Given the description of an element on the screen output the (x, y) to click on. 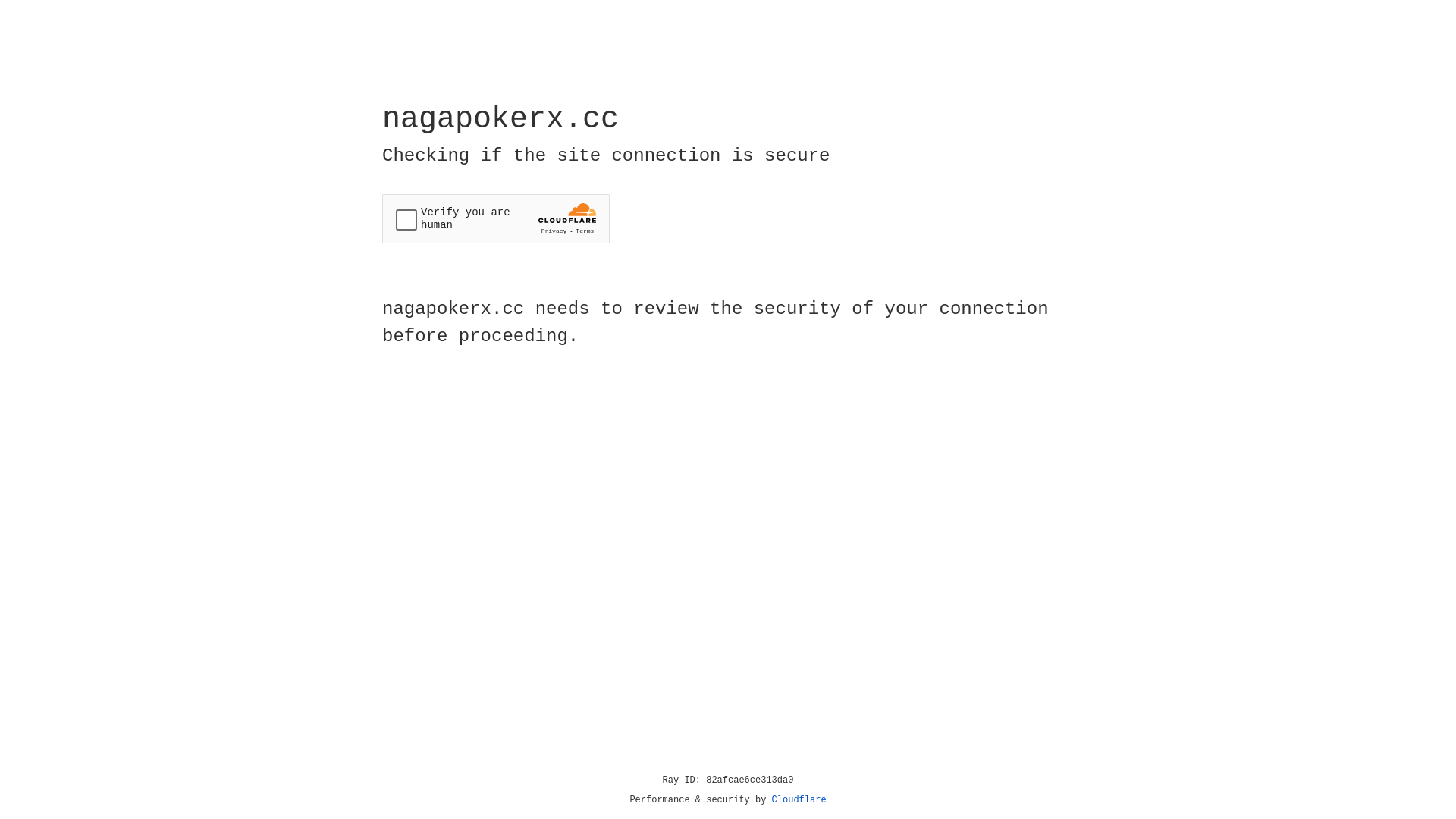
Widget containing a Cloudflare security challenge Element type: hover (495, 218)
Cloudflare Element type: text (798, 799)
